Given the description of an element on the screen output the (x, y) to click on. 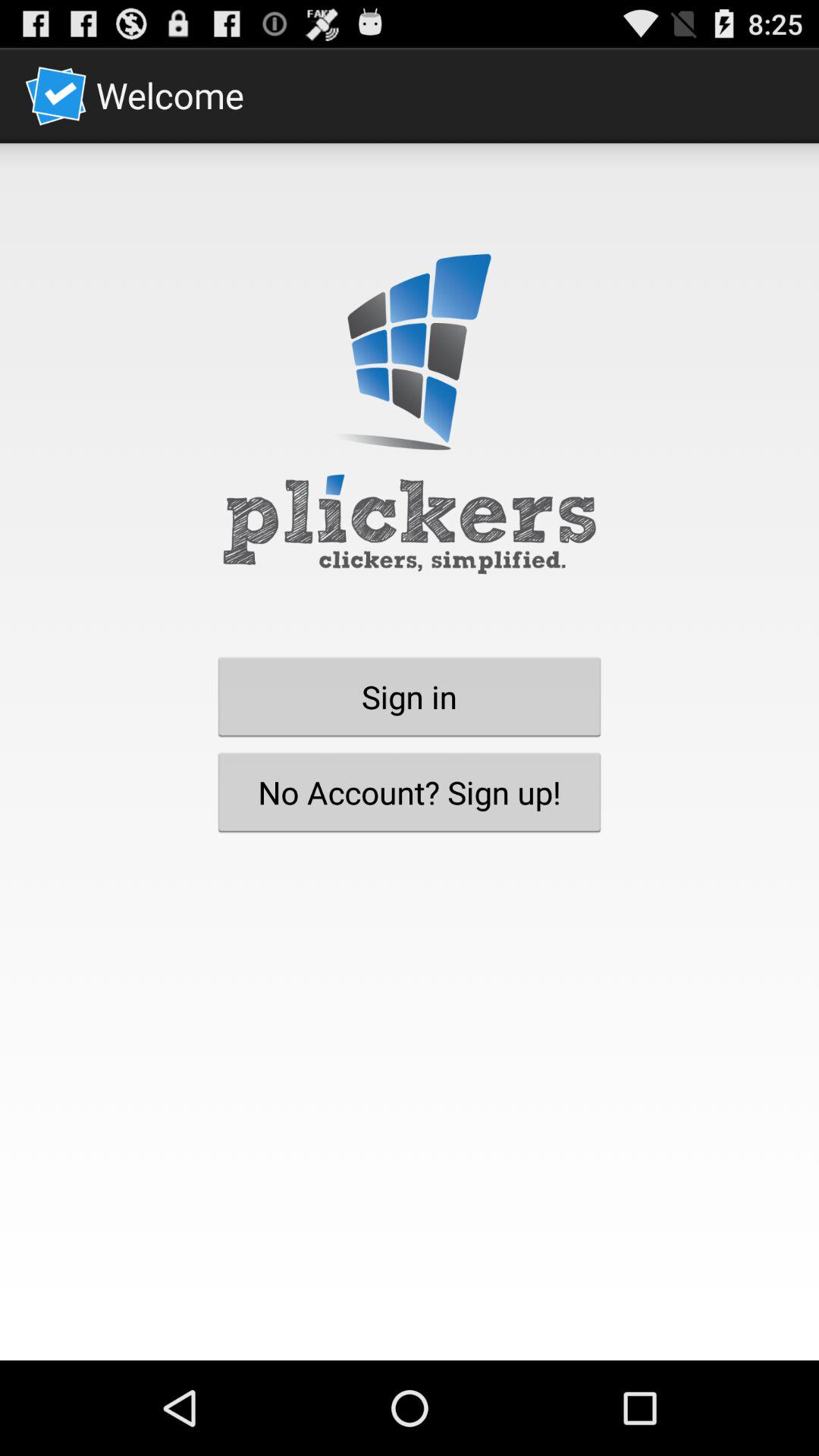
tap no account sign icon (409, 792)
